Given the description of an element on the screen output the (x, y) to click on. 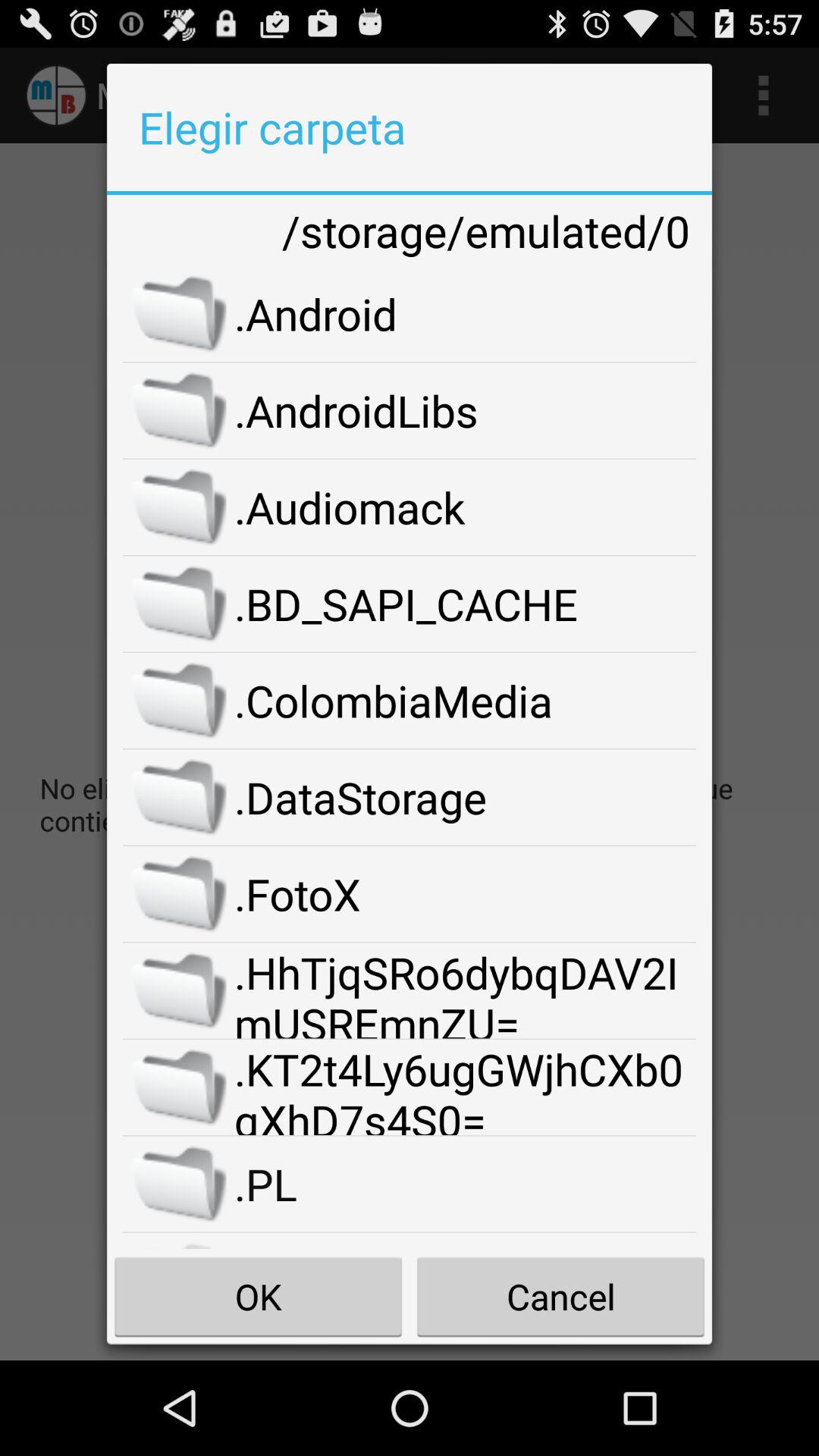
tap .bd_sapi_cache icon (465, 603)
